Given the description of an element on the screen output the (x, y) to click on. 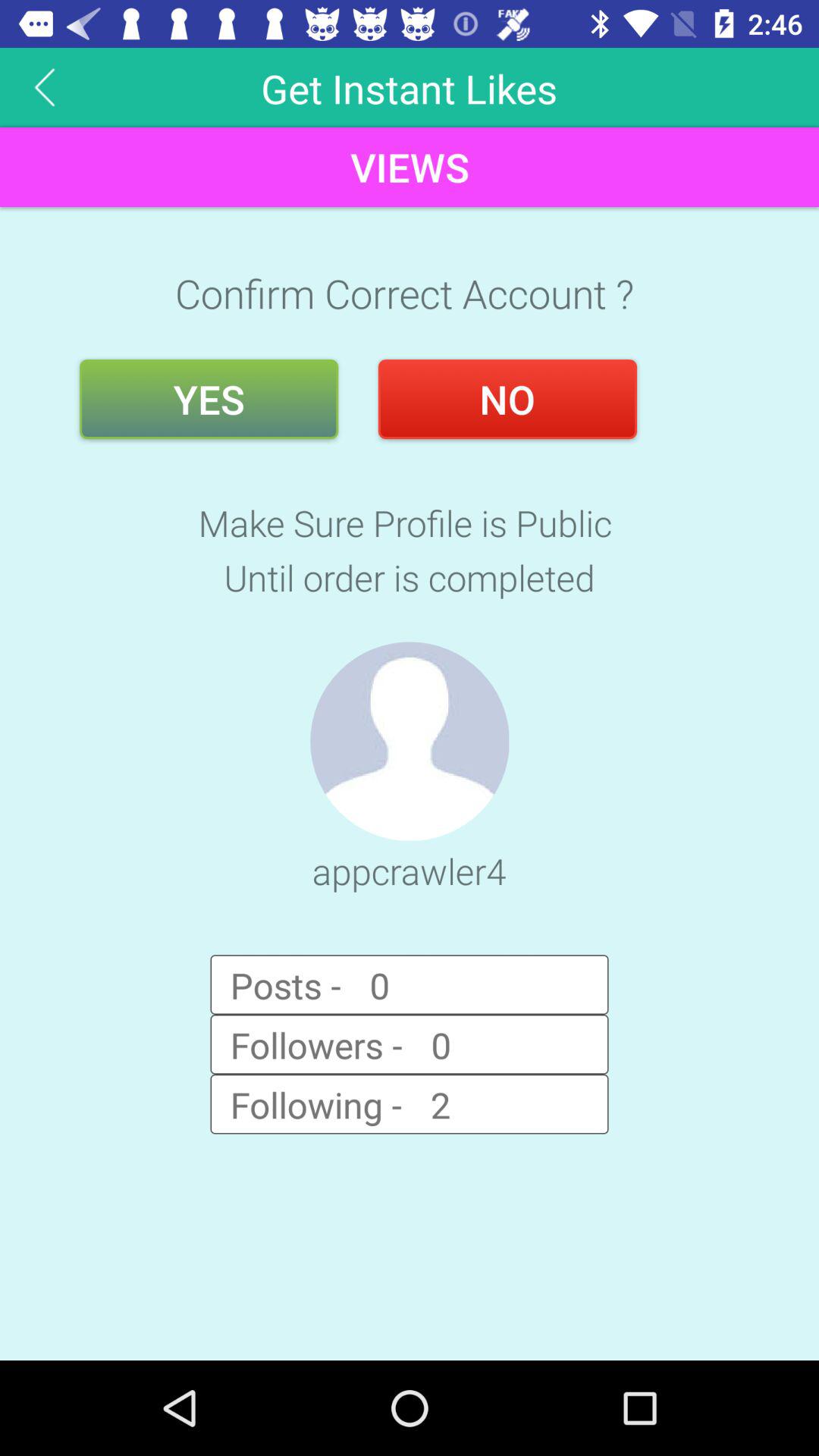
tap the app to the left of the get instant likes (44, 87)
